Given the description of an element on the screen output the (x, y) to click on. 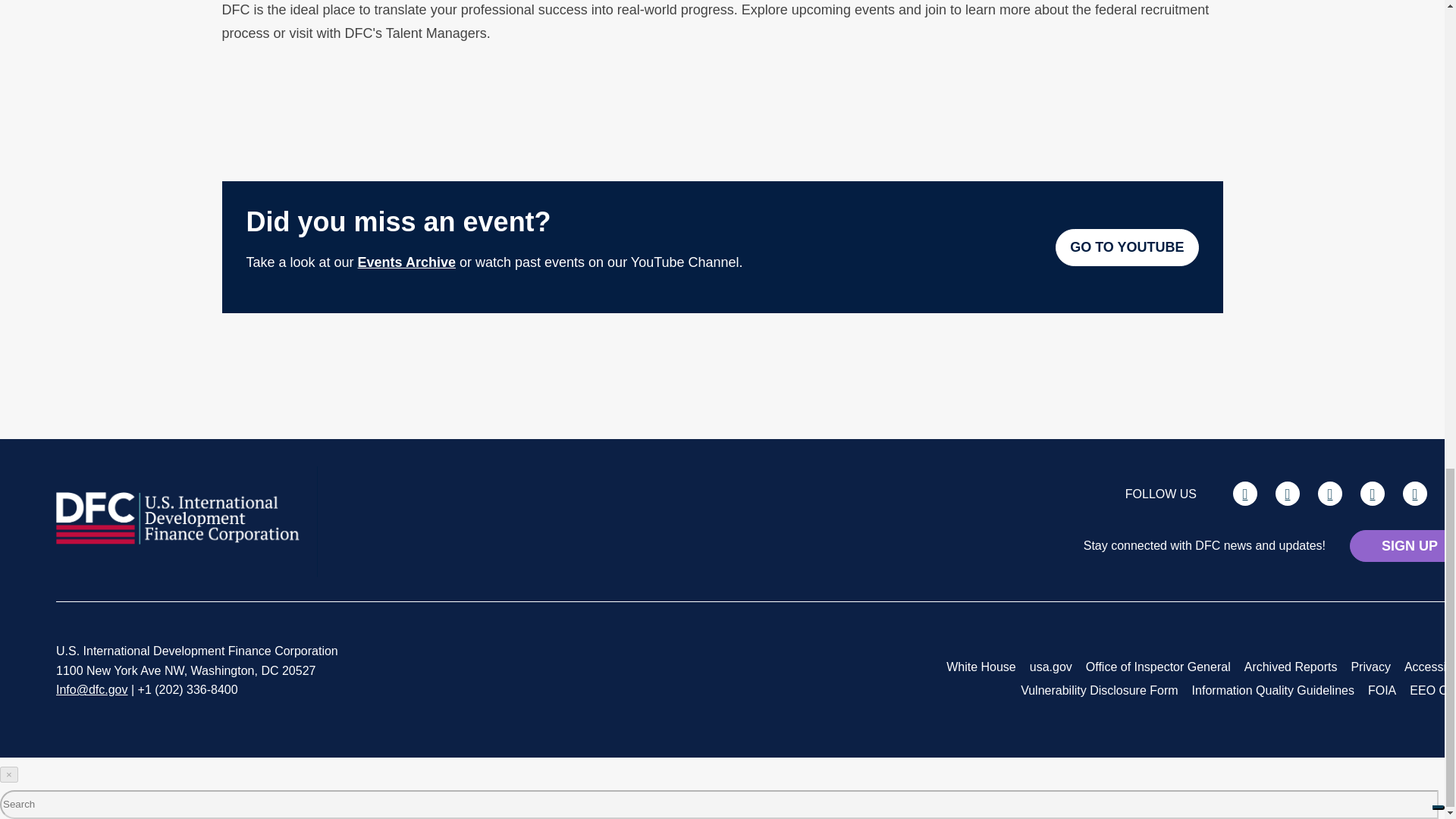
DFC home page (178, 539)
